Given the description of an element on the screen output the (x, y) to click on. 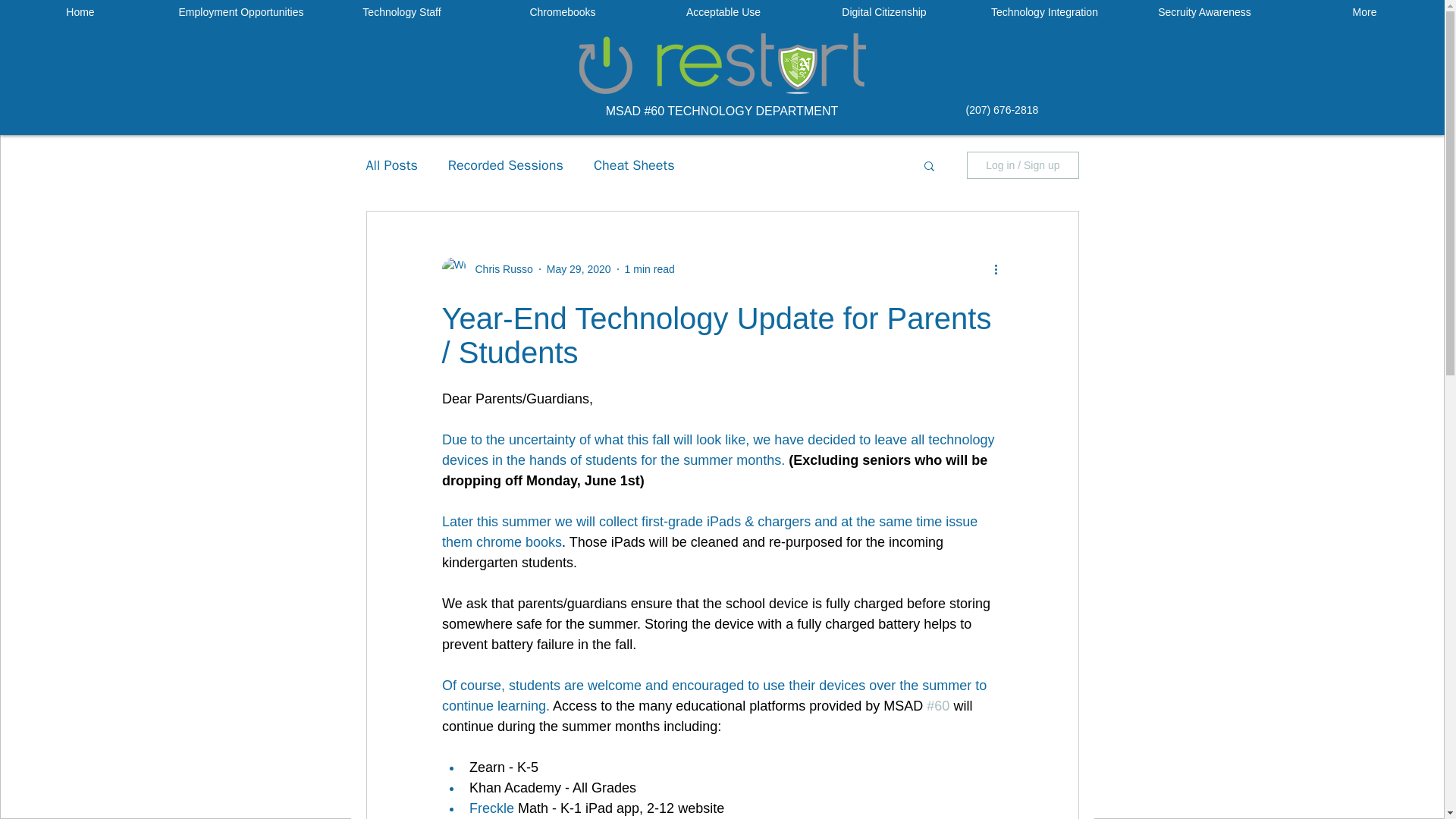
Chris Russo (498, 269)
Employment Opportunities (240, 12)
Technology Integration (1043, 12)
Acceptable Use (723, 12)
Chromebooks (562, 12)
Technology Staff (401, 12)
Secruity Awareness (1204, 12)
1 min read (649, 268)
Cheat Sheets (634, 165)
Digital Citizenship (883, 12)
Recorded Sessions (505, 165)
Home (80, 12)
May 29, 2020 (579, 268)
All Posts (390, 165)
